Given the description of an element on the screen output the (x, y) to click on. 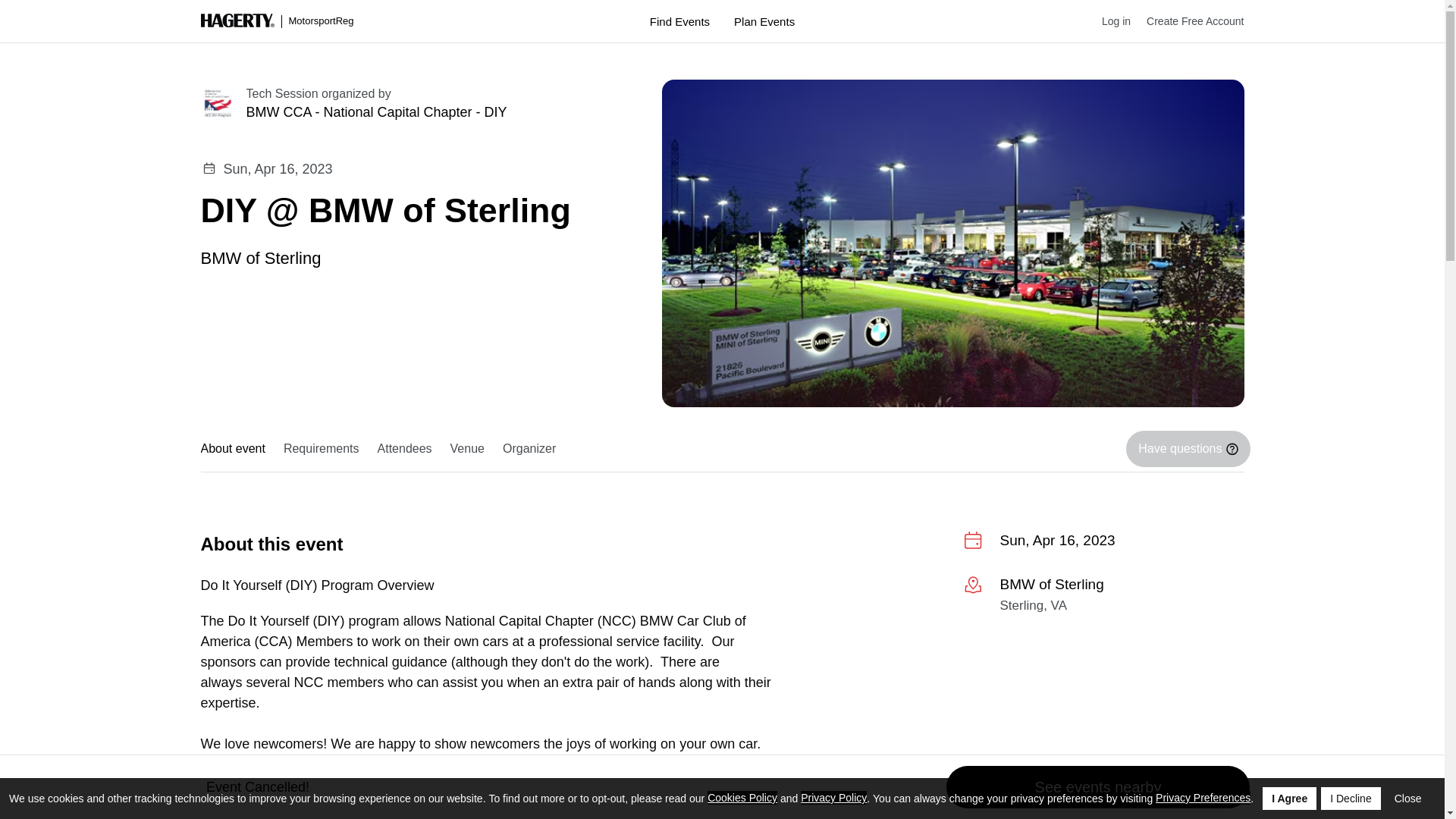
Cookies Policy (742, 797)
BMW CCA - National Capital Chapter - DIY (435, 112)
Have questions (1187, 448)
Plan Events (764, 21)
Organizer (528, 449)
BMW of Sterling (260, 256)
I Agree (1289, 798)
I Decline (1350, 798)
Privacy Policy (833, 797)
MotorsportReg (276, 21)
More info (1102, 597)
Venue (467, 449)
Attendees (404, 449)
Find Events (679, 21)
Log in (1108, 21)
